Given the description of an element on the screen output the (x, y) to click on. 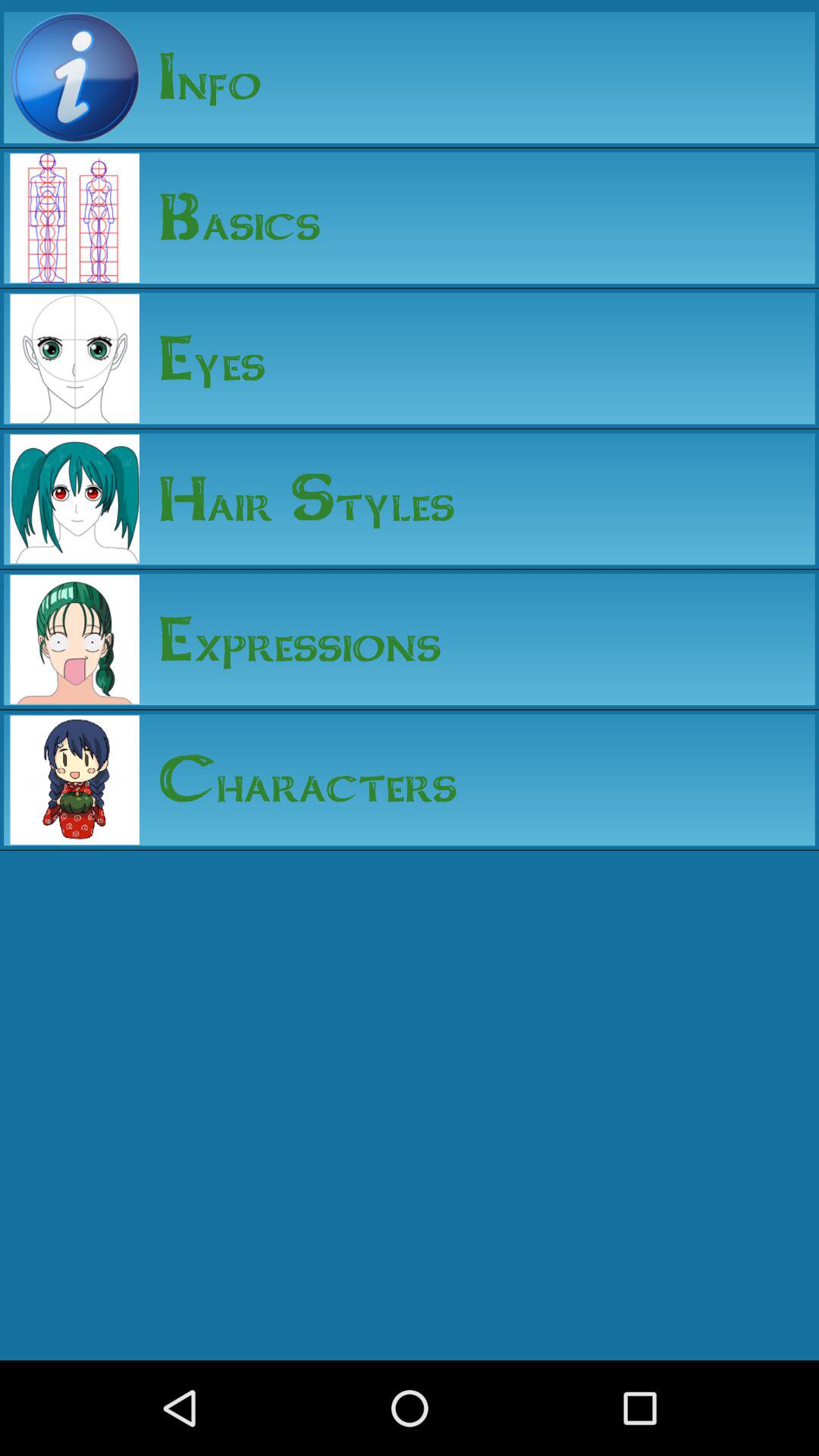
click the characters app (298, 779)
